Given the description of an element on the screen output the (x, y) to click on. 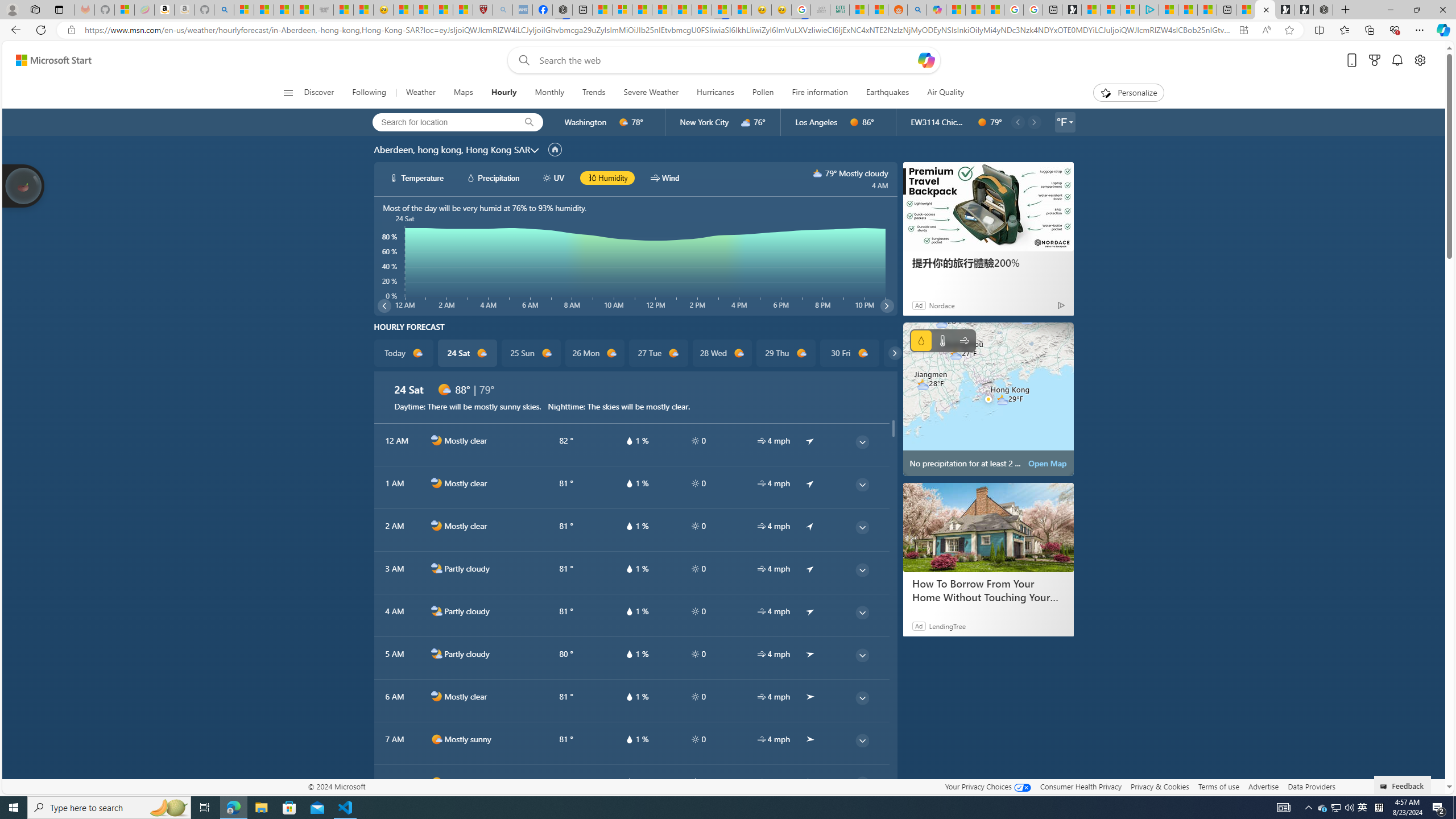
Precipitation (920, 340)
Hurricanes (715, 92)
Open Map (1047, 463)
hourlyChart/uvWhite UV (553, 178)
Air Quality (940, 92)
Pollen (762, 92)
Join us in planting real trees to help our planet! (23, 184)
hourlyChart/temperatureWhite Temperature (416, 178)
